Given the description of an element on the screen output the (x, y) to click on. 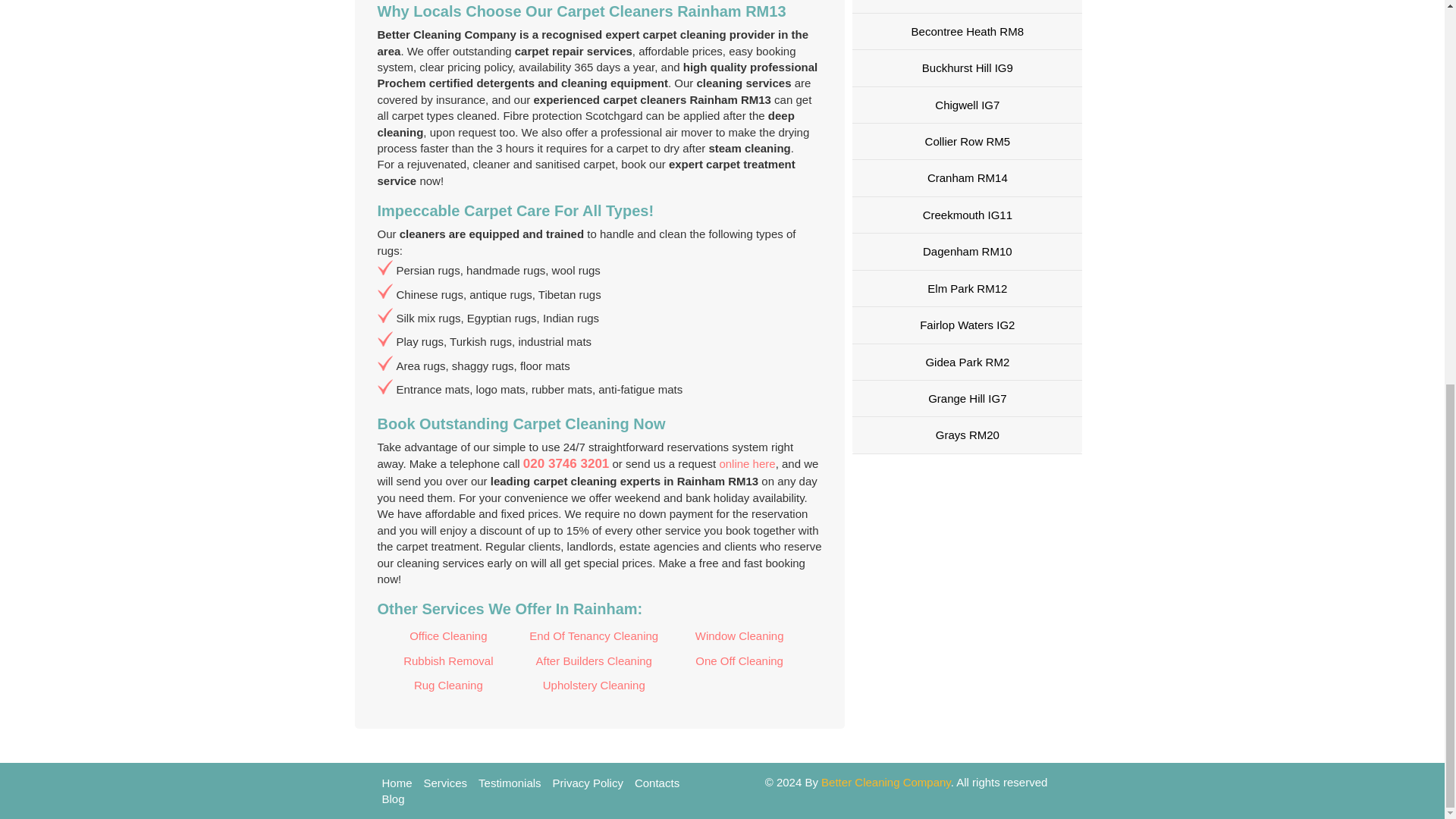
After Builders Cleaning (593, 661)
Office Cleaning (448, 636)
Window Cleaning (739, 636)
Upholstery Cleaning (593, 685)
Rug Cleaning (448, 685)
020 3746 3201 (565, 463)
One Off Cleaning (739, 661)
Rubbish Removal (448, 661)
End Of Tenancy Cleaning (593, 636)
online here (746, 463)
